Given the description of an element on the screen output the (x, y) to click on. 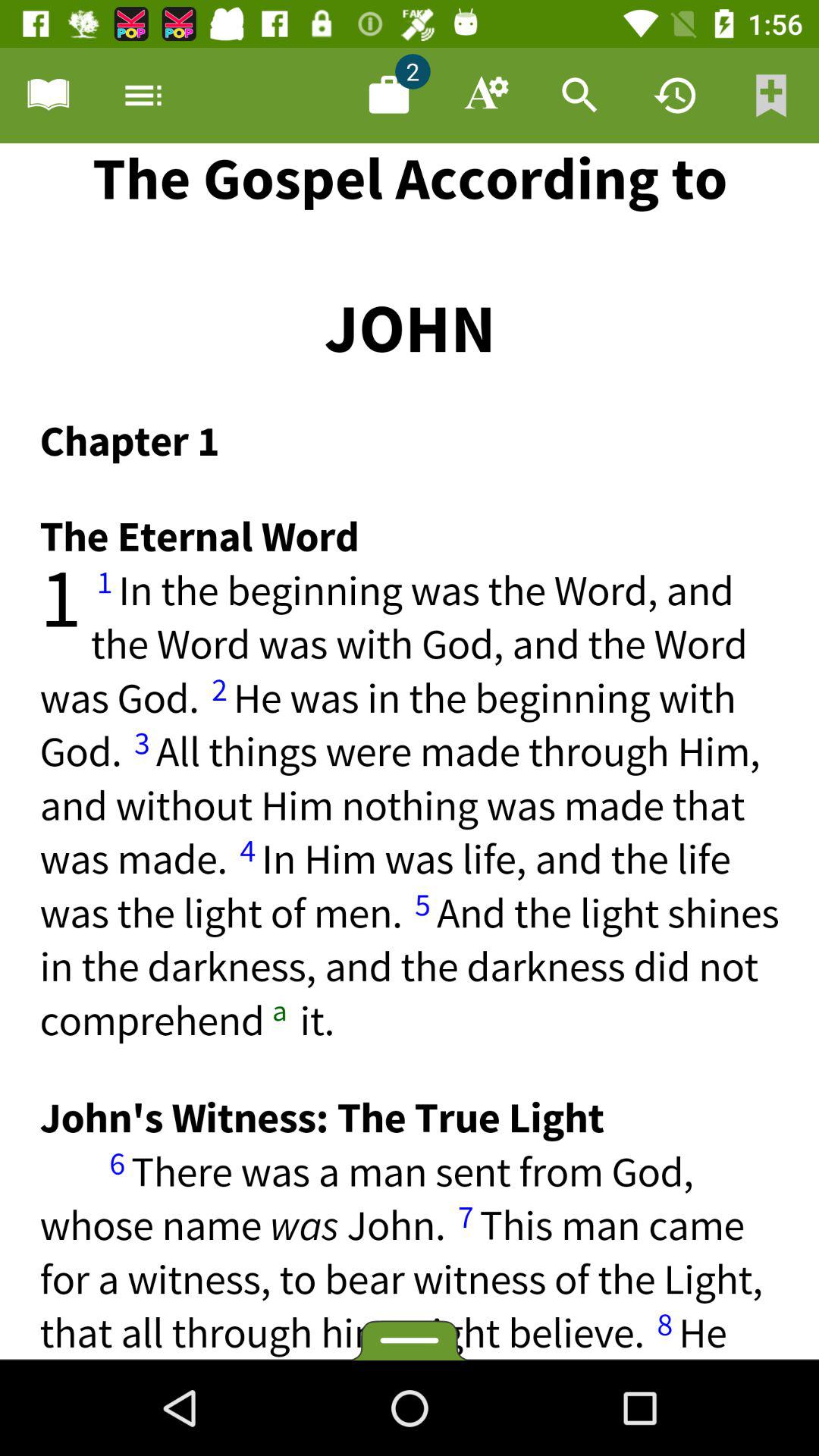
search document (579, 95)
